Given the description of an element on the screen output the (x, y) to click on. 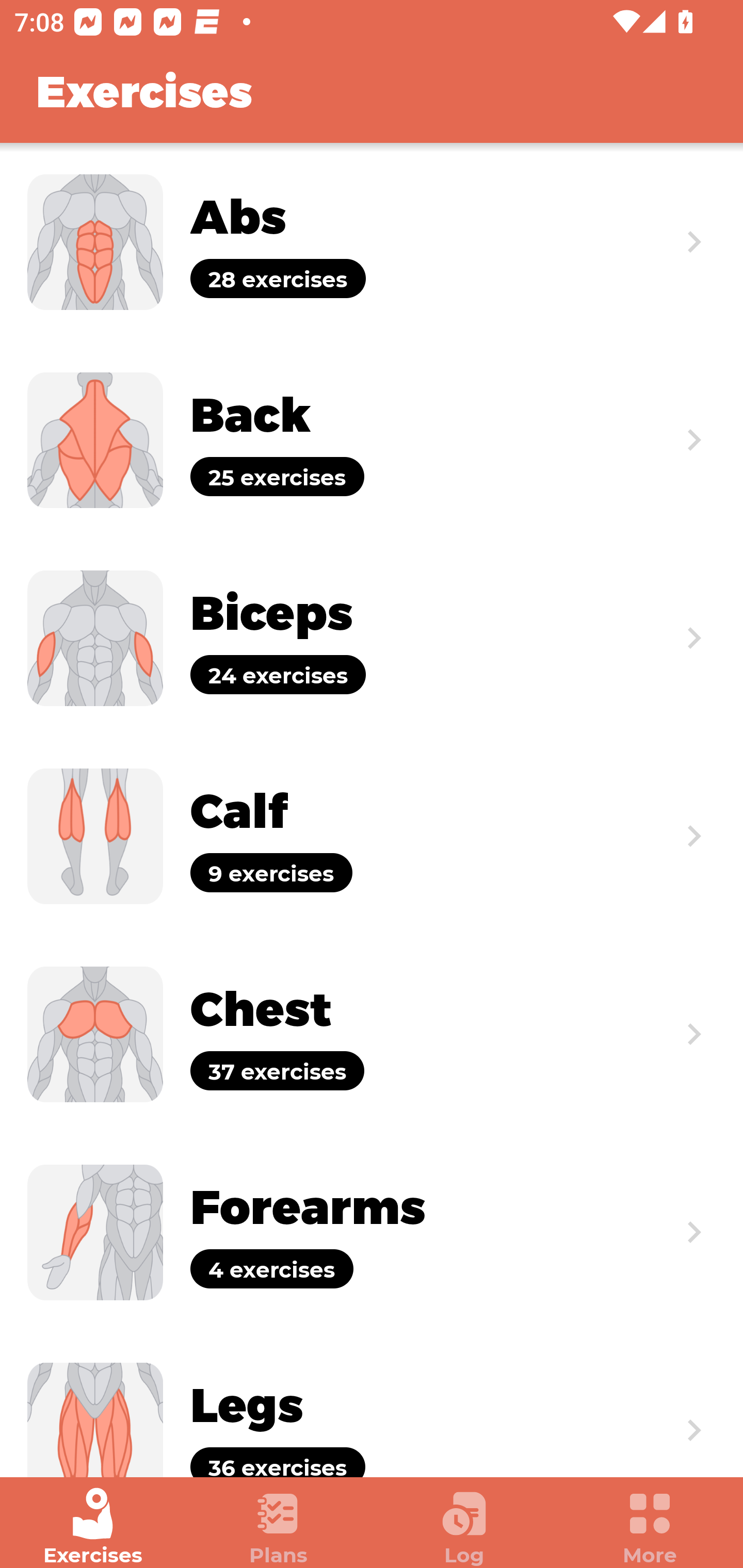
Exercise Abs 28 exercises (371, 241)
Exercise Back 25 exercises (371, 439)
Exercise Biceps 24 exercises (371, 637)
Exercise Calf 9 exercises (371, 836)
Exercise Chest 37 exercises (371, 1033)
Exercise Forearms 4 exercises (371, 1232)
Exercise Legs 36 exercises (371, 1404)
Exercises (92, 1527)
Plans (278, 1527)
Log (464, 1527)
More (650, 1527)
